Given the description of an element on the screen output the (x, y) to click on. 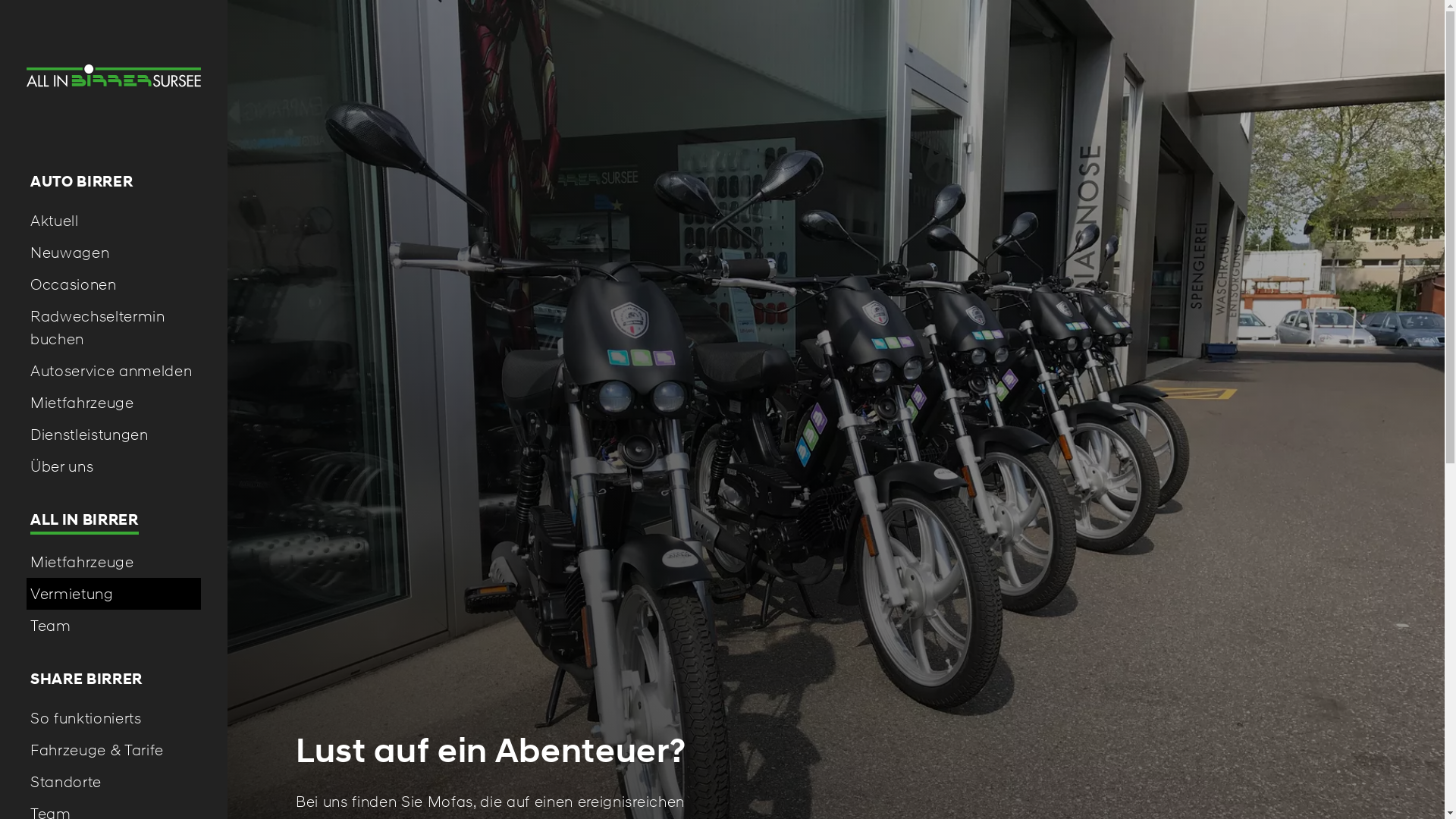
Mietfahrzeuge Element type: text (113, 402)
So funktionierts Element type: text (113, 718)
Fahrzeuge & Tarife Element type: text (113, 749)
Dienstleistungen Element type: text (113, 434)
ALL IN BIRRER Element type: text (113, 521)
Radwechseltermin buchen Element type: text (113, 327)
Aktuell Element type: text (113, 220)
Standorte Element type: text (113, 781)
Vermietung Element type: text (113, 593)
SHARE BIRRER Element type: text (113, 679)
Occasionen Element type: text (113, 284)
Autoservice anmelden Element type: text (113, 370)
Neuwagen Element type: text (113, 252)
AUTO BIRRER Element type: text (113, 181)
Team Element type: text (113, 625)
Mietfahrzeuge Element type: text (113, 561)
